Given the description of an element on the screen output the (x, y) to click on. 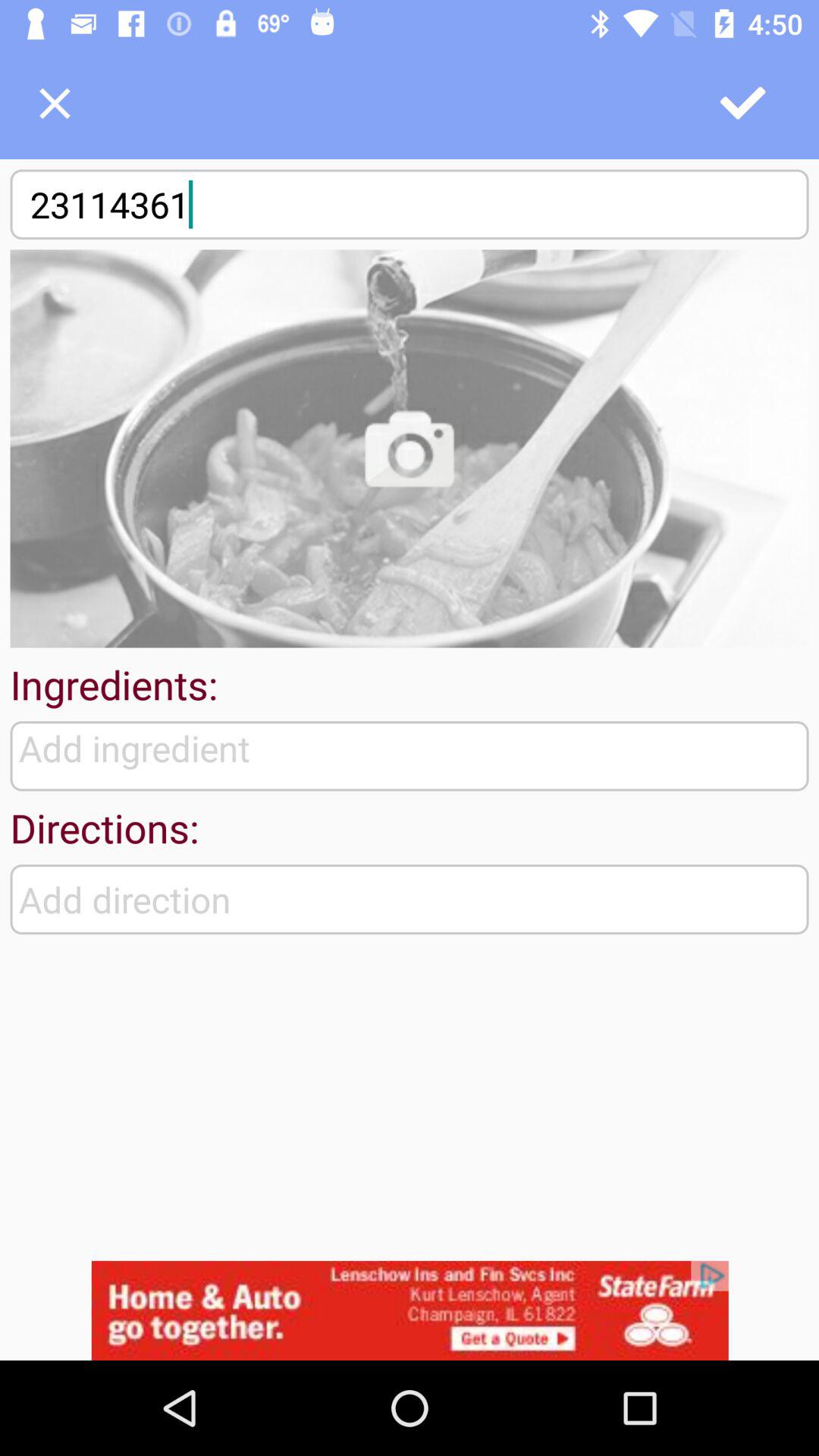
close recipe (54, 103)
